Given the description of an element on the screen output the (x, y) to click on. 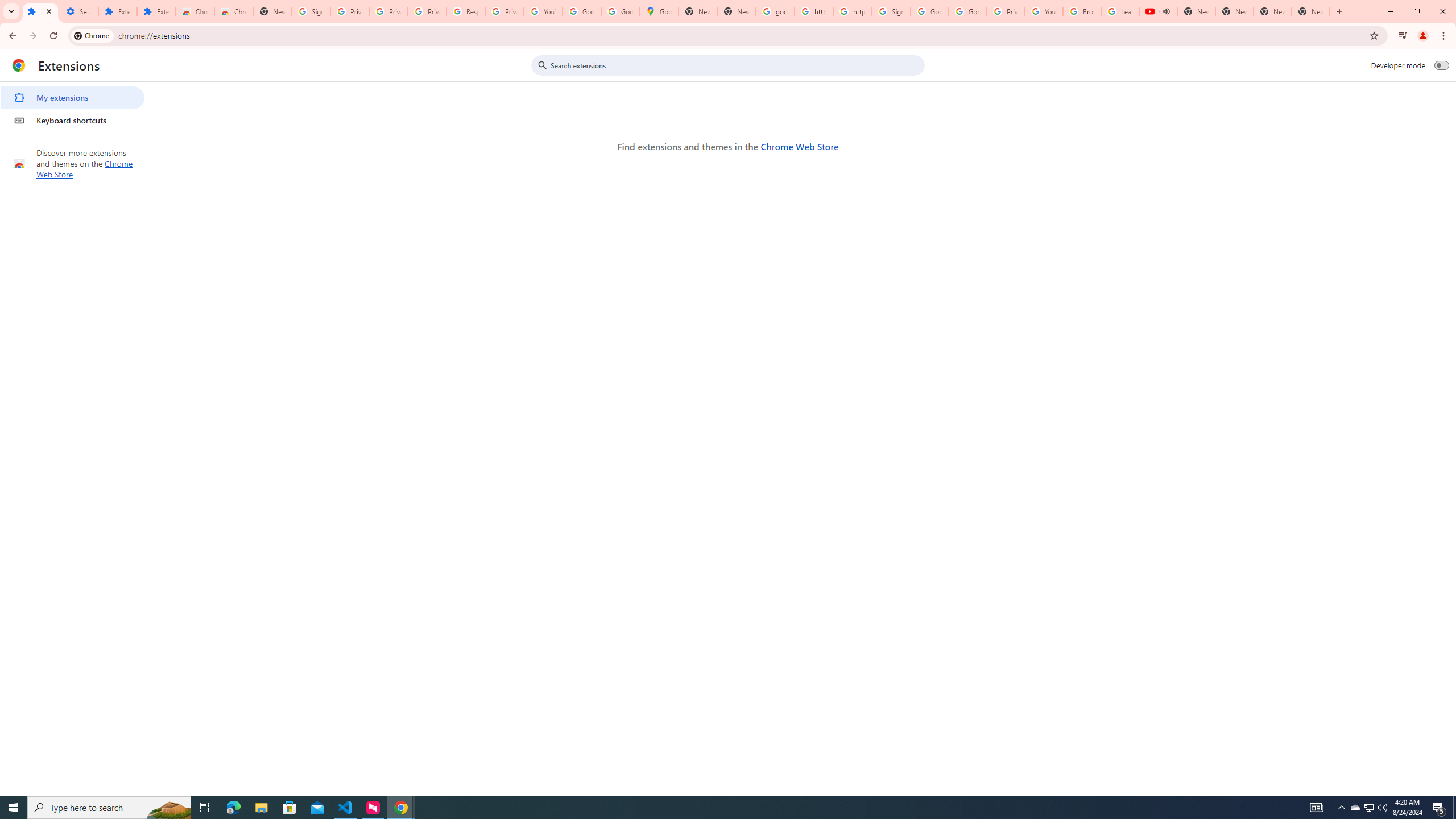
https://scholar.google.com/ (852, 11)
Search extensions (735, 65)
Keyboard shortcuts (72, 119)
Extensions (117, 11)
